Given the description of an element on the screen output the (x, y) to click on. 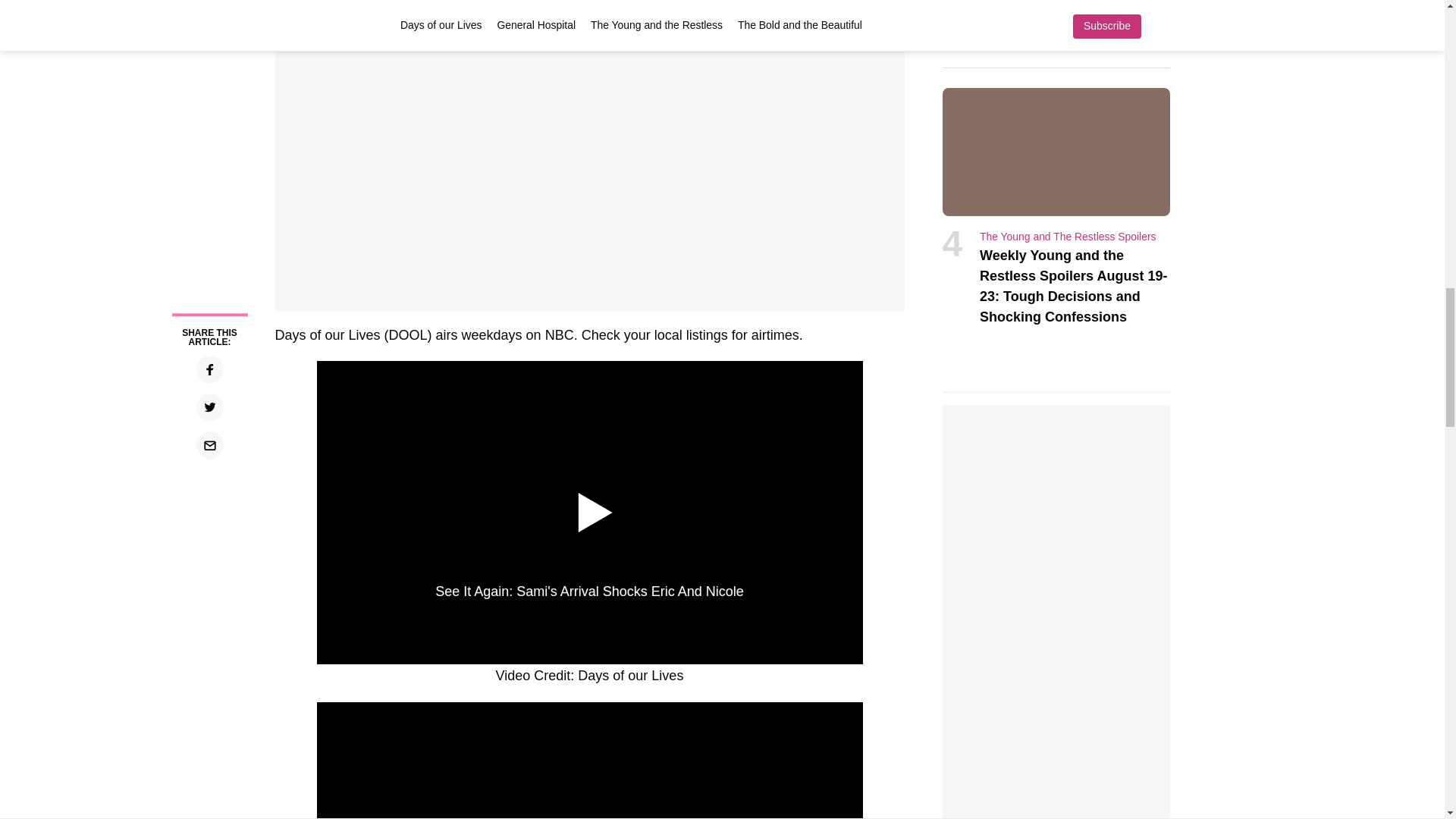
The Young and The Restless Spoilers (1067, 236)
